Given the description of an element on the screen output the (x, y) to click on. 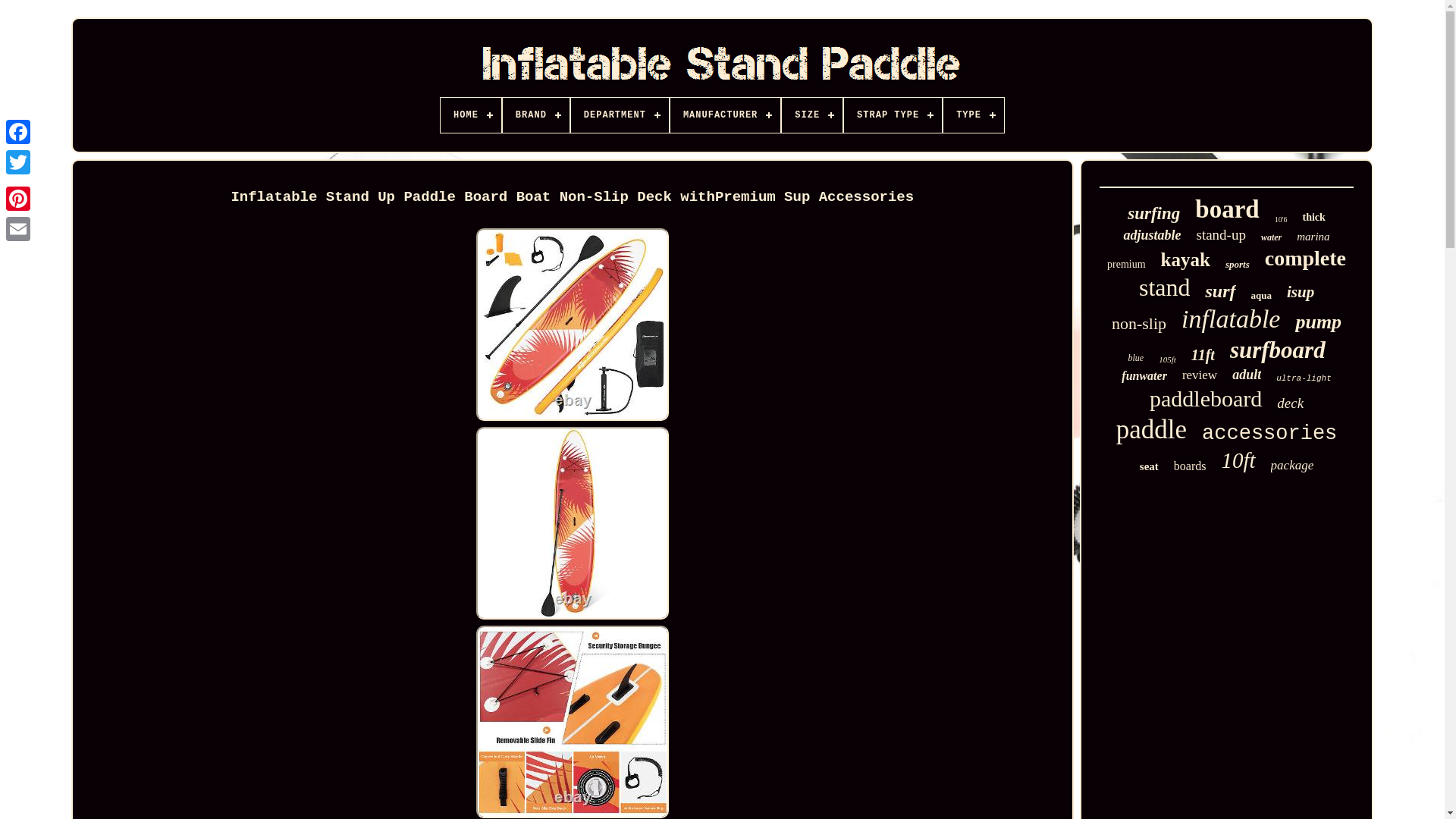
DEPARTMENT (619, 114)
BRAND (535, 114)
HOME (470, 114)
